Given the description of an element on the screen output the (x, y) to click on. 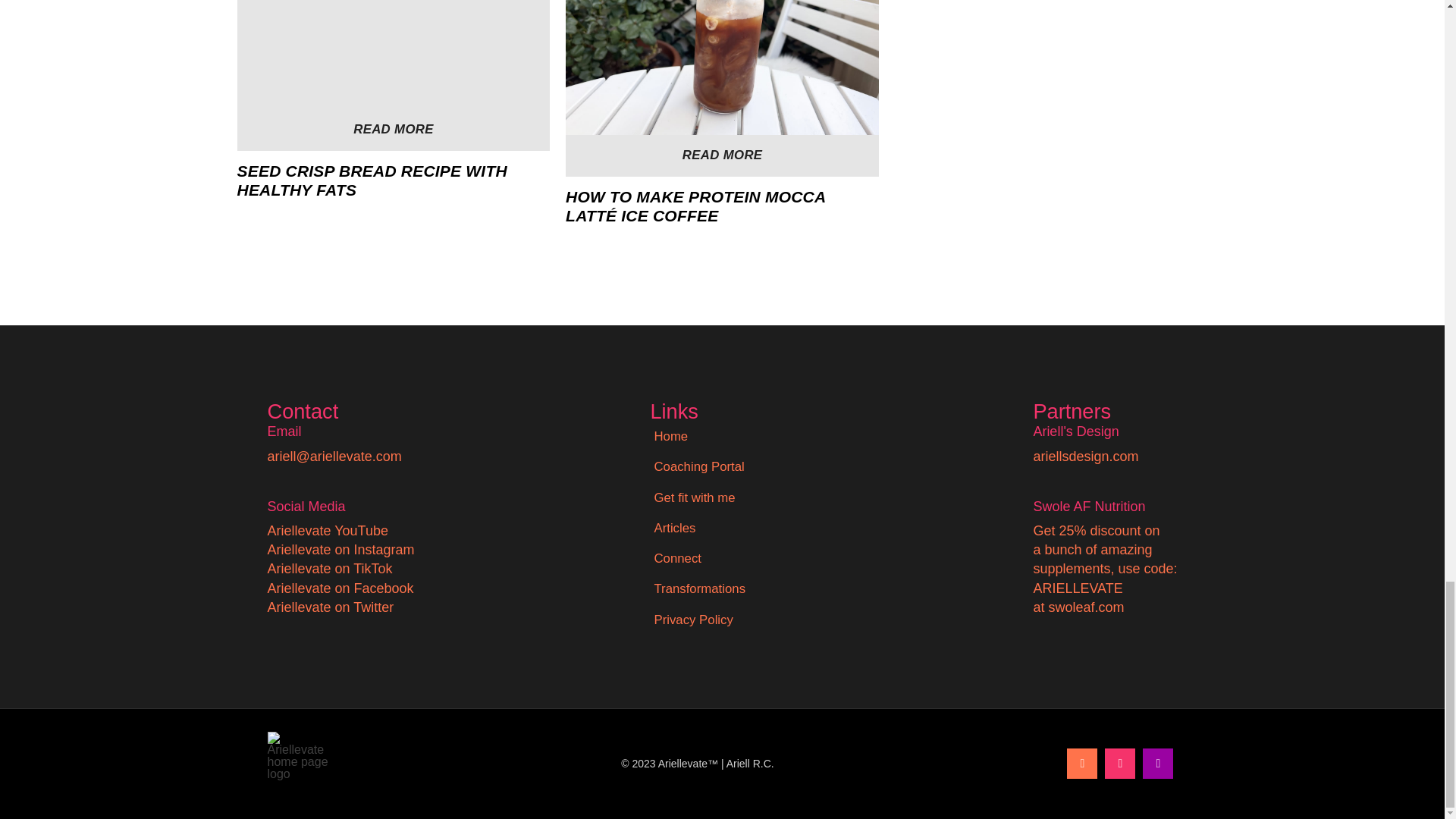
Ariellevate on TikTok (328, 568)
Transformations (699, 589)
swoleaf.com (1086, 607)
Ariellevate on Twitter (329, 607)
Ariellevate on Facebook (339, 588)
Get fit with me (693, 498)
Ariellevate on Instagram (339, 549)
Privacy Policy (692, 620)
ariellsdesign.com (1085, 456)
Connect (676, 558)
Articles (673, 528)
Coaching Portal (698, 467)
Home (670, 436)
Ariellevate YouTube (326, 530)
